Given the description of an element on the screen output the (x, y) to click on. 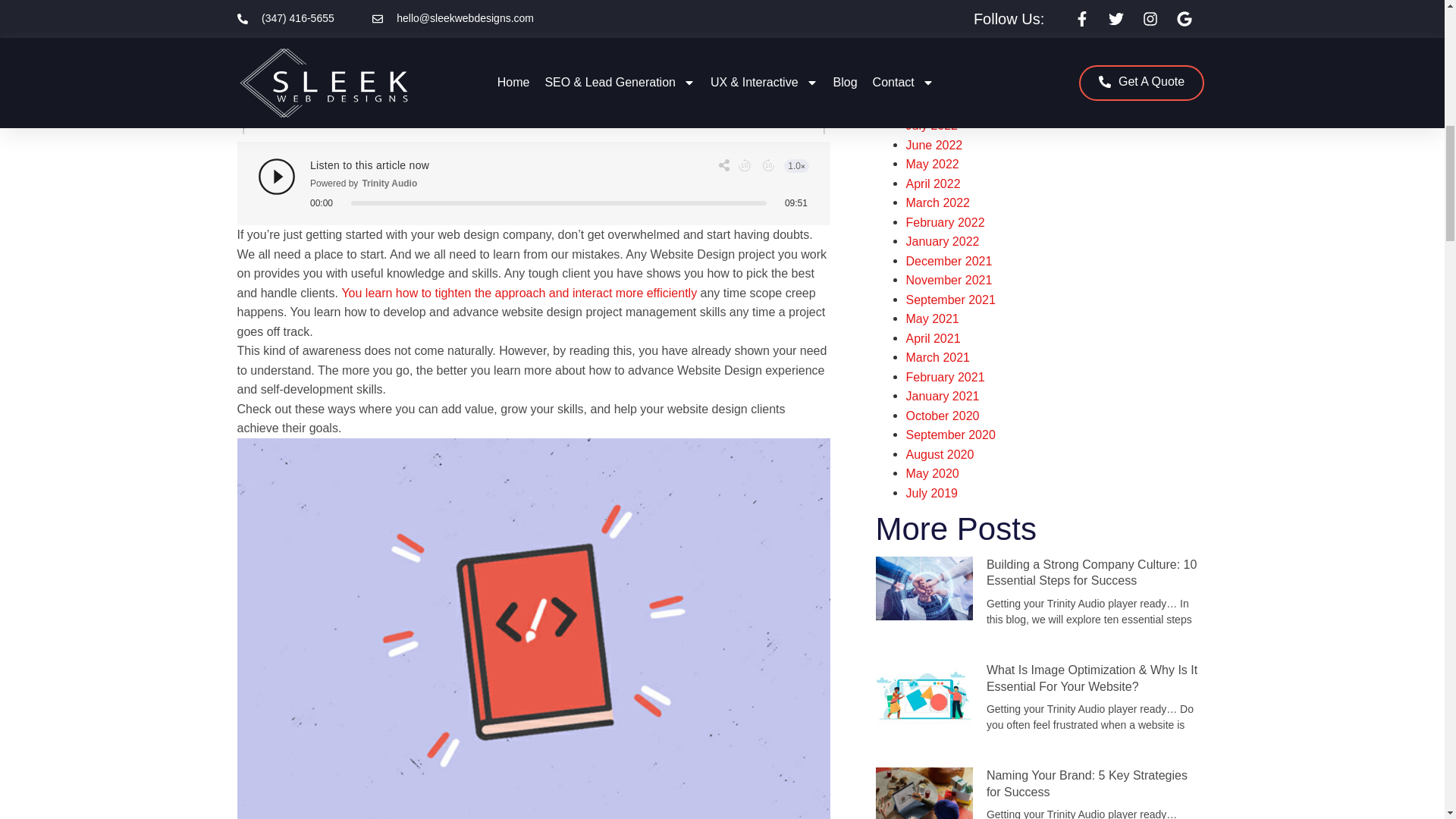
Trinity Audio Player (533, 183)
